Given the description of an element on the screen output the (x, y) to click on. 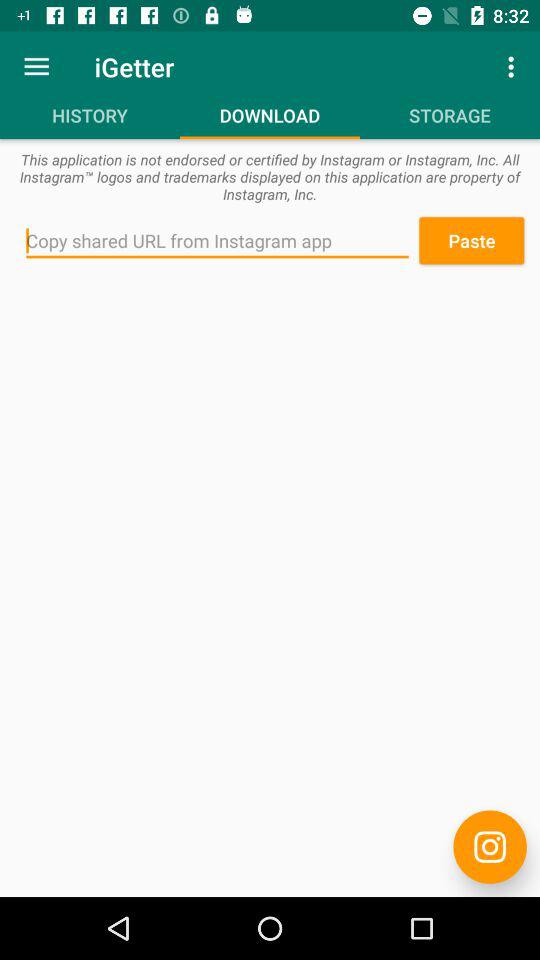
turn on the item below the paste item (489, 846)
